Given the description of an element on the screen output the (x, y) to click on. 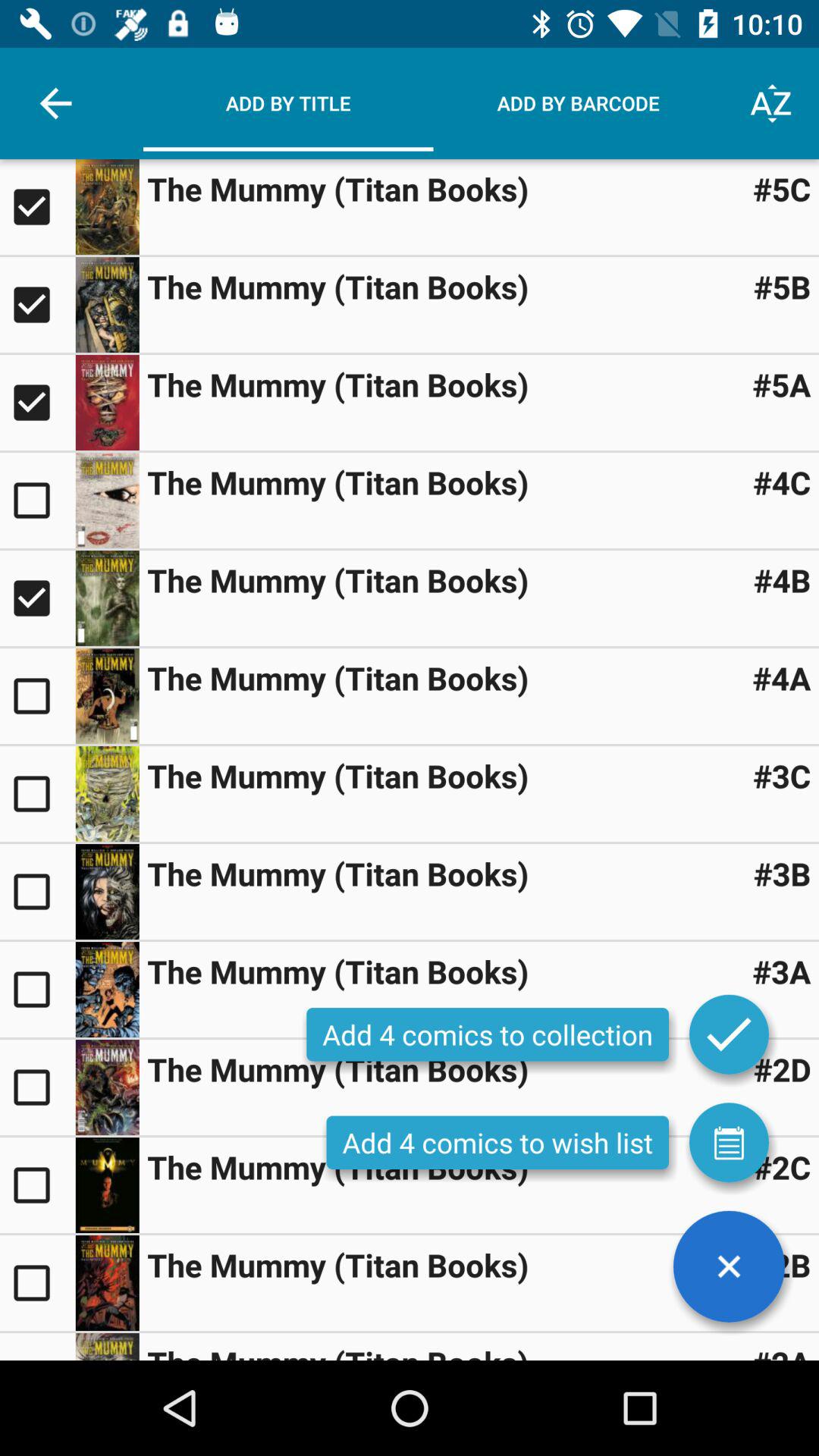
go to 'the mummy information (107, 206)
